Given the description of an element on the screen output the (x, y) to click on. 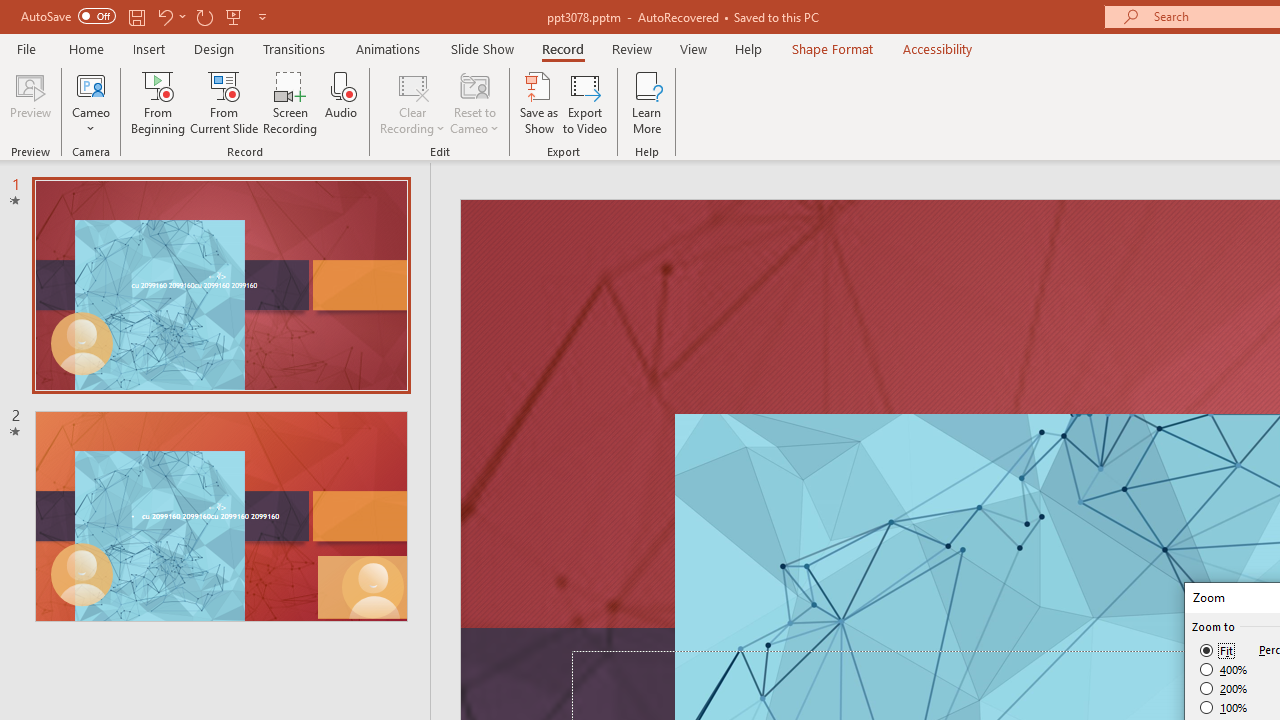
Reset to Cameo (474, 102)
Slide (221, 515)
From Current Slide... (224, 102)
200% (1224, 688)
Fit (1217, 650)
Screen Recording (290, 102)
Export to Video (585, 102)
Cameo (91, 84)
From Beginning... (158, 102)
